Given the description of an element on the screen output the (x, y) to click on. 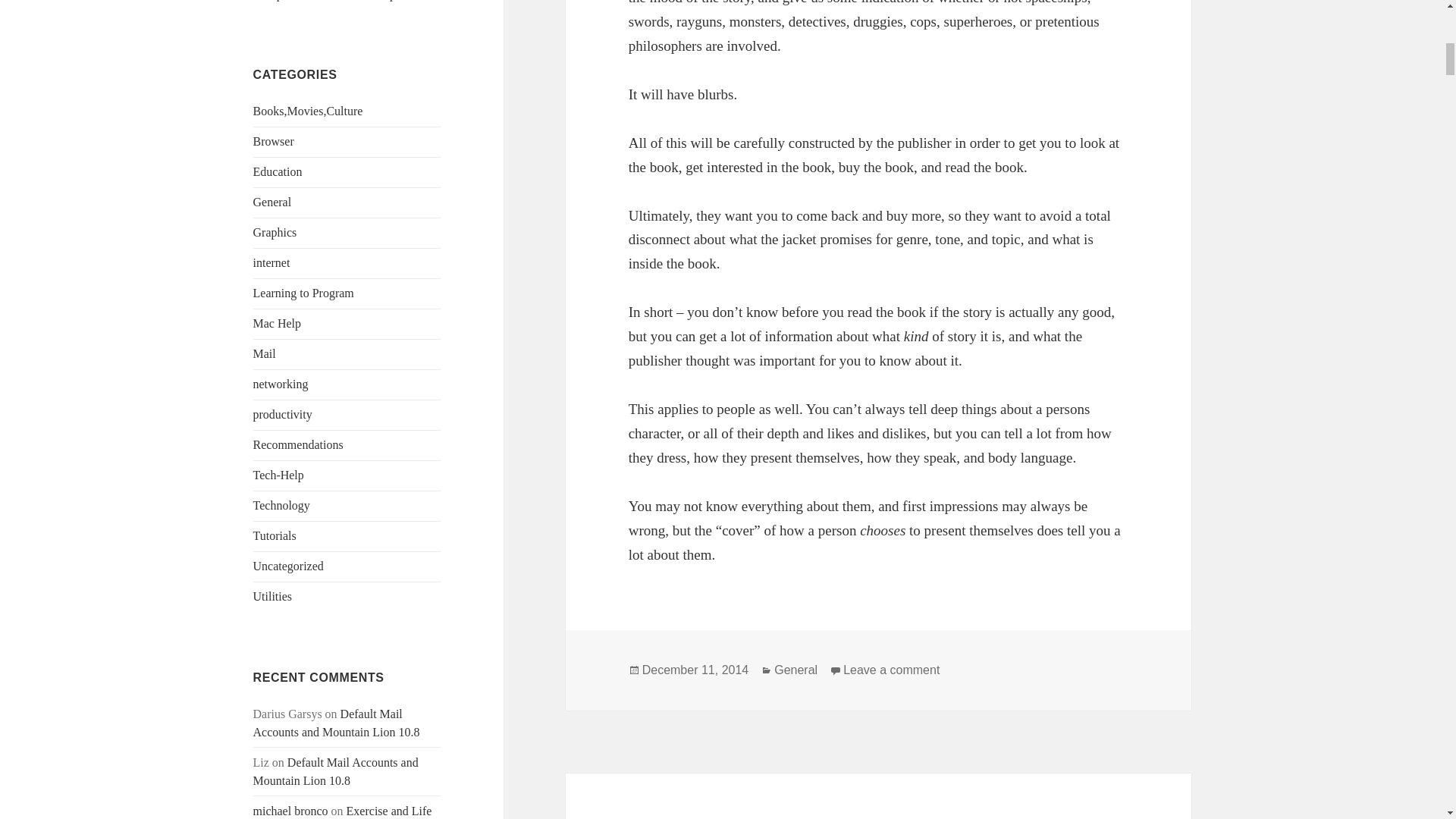
internet (271, 262)
Recommendations (298, 444)
Learning to Program (303, 292)
Exercise and Life (389, 810)
Browser (273, 141)
Utilities (272, 595)
Tech-Help (278, 474)
Default Mail Accounts and Mountain Lion 10.8 (336, 722)
Mail (264, 353)
Education (277, 171)
Graphics (275, 232)
Mac Help (277, 323)
networking (280, 383)
michael bronco (291, 810)
Technology (281, 504)
